Given the description of an element on the screen output the (x, y) to click on. 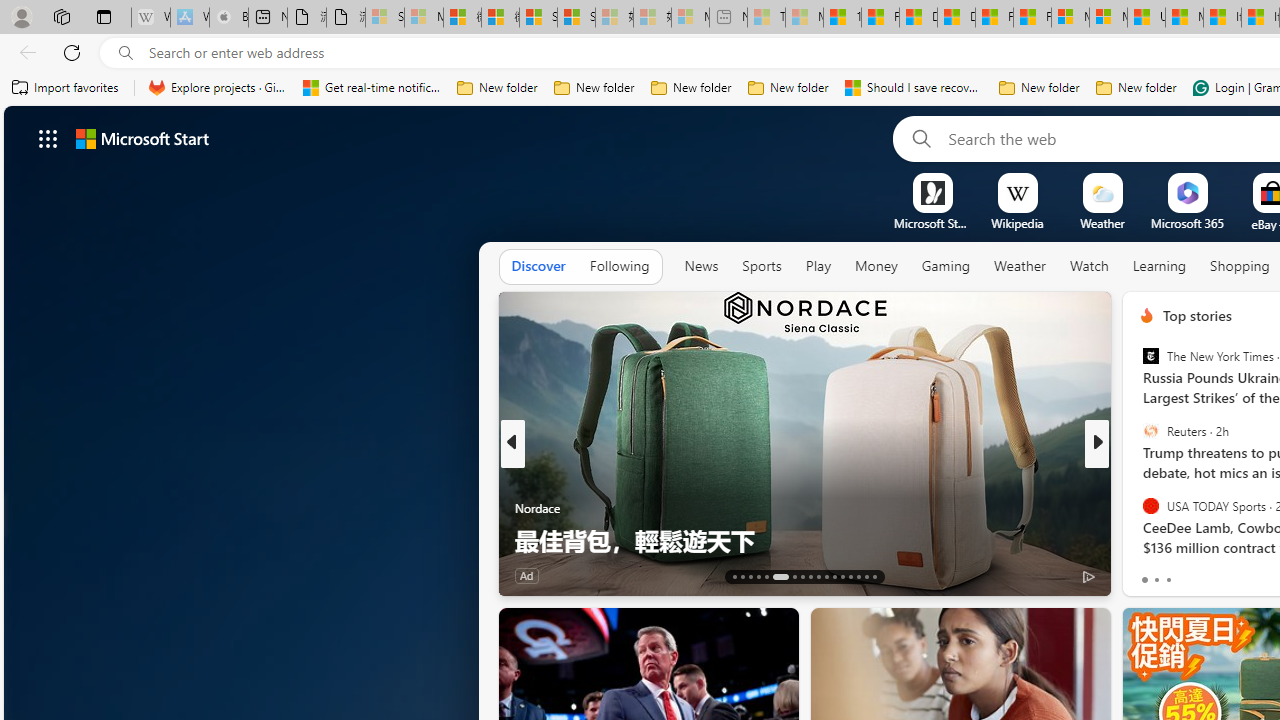
AutomationID: tab-15 (750, 576)
Sign in to your Microsoft account - Sleeping (385, 17)
20 Like (1149, 574)
AutomationID: tab-32 (865, 576)
AutomationID: tab-24 (833, 576)
Climate Crisis 247 (1138, 475)
tab-2 (1168, 579)
